Given the description of an element on the screen output the (x, y) to click on. 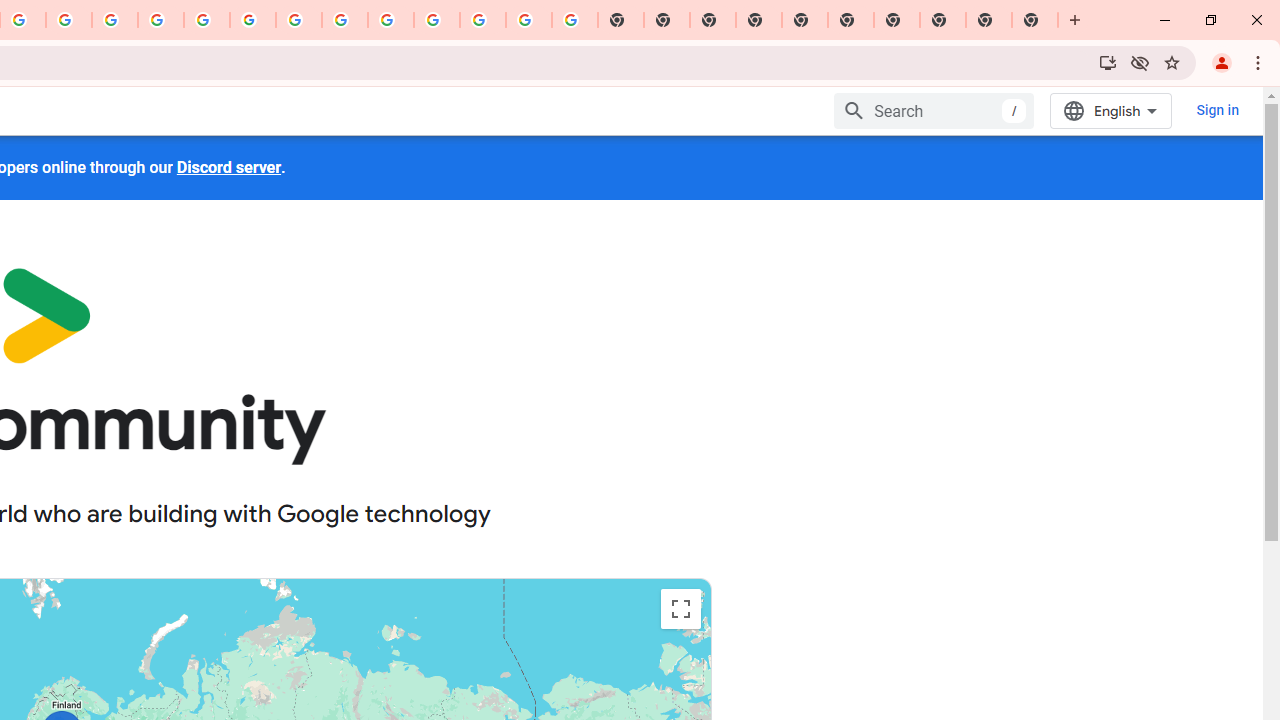
Toggle fullscreen view (680, 608)
Discord server (228, 167)
Install Google Developers (1107, 62)
Privacy Help Center - Policies Help (115, 20)
New Tab (1035, 20)
